Given the description of an element on the screen output the (x, y) to click on. 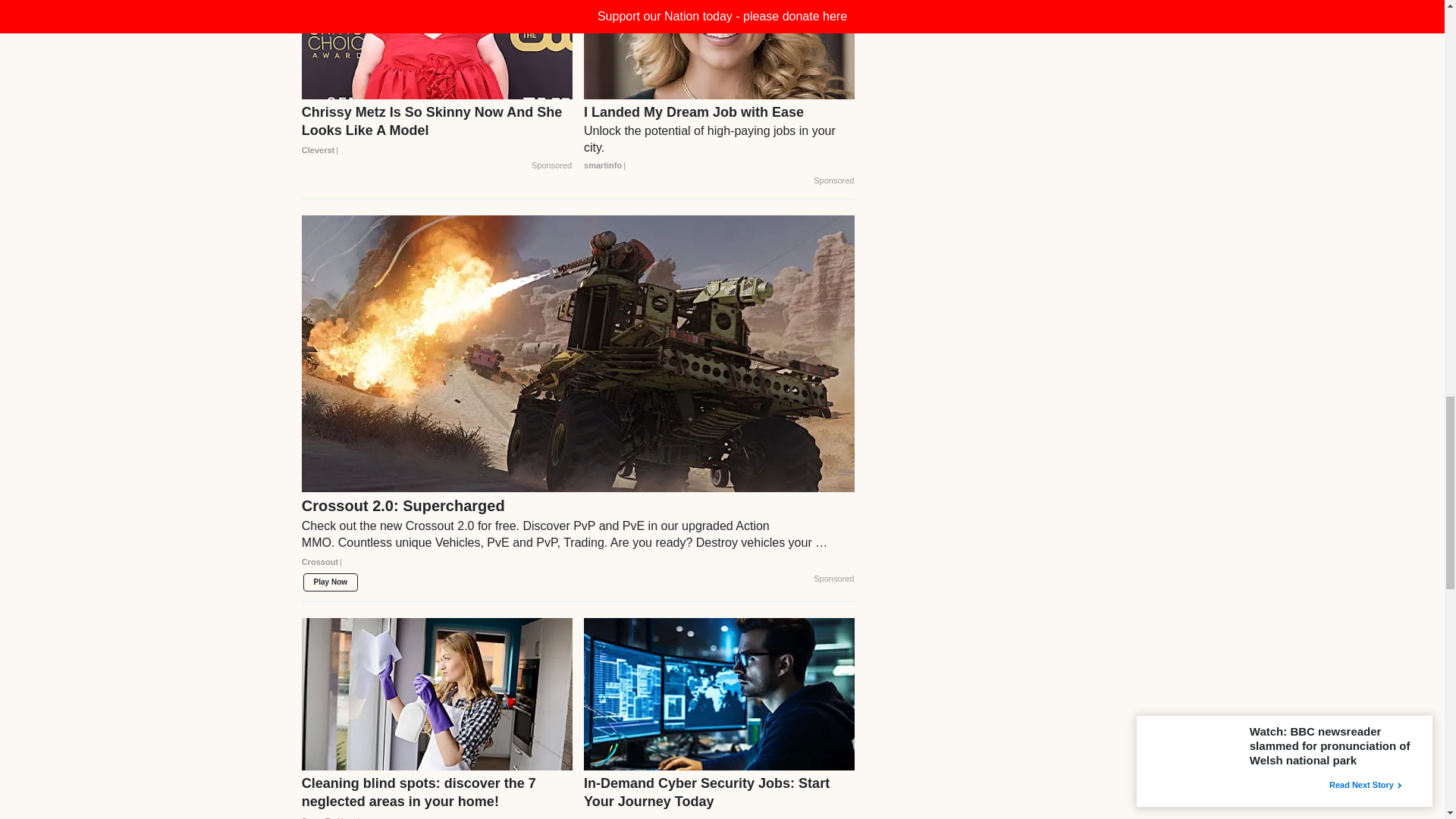
Sponsored (833, 181)
Crossout 2.0: Supercharged (578, 539)
Chrissy Metz Is So Skinny Now And She Looks Like A Model (436, 130)
I Landed My Dream Job with Ease (718, 138)
Sponsored (551, 165)
